Given the description of an element on the screen output the (x, y) to click on. 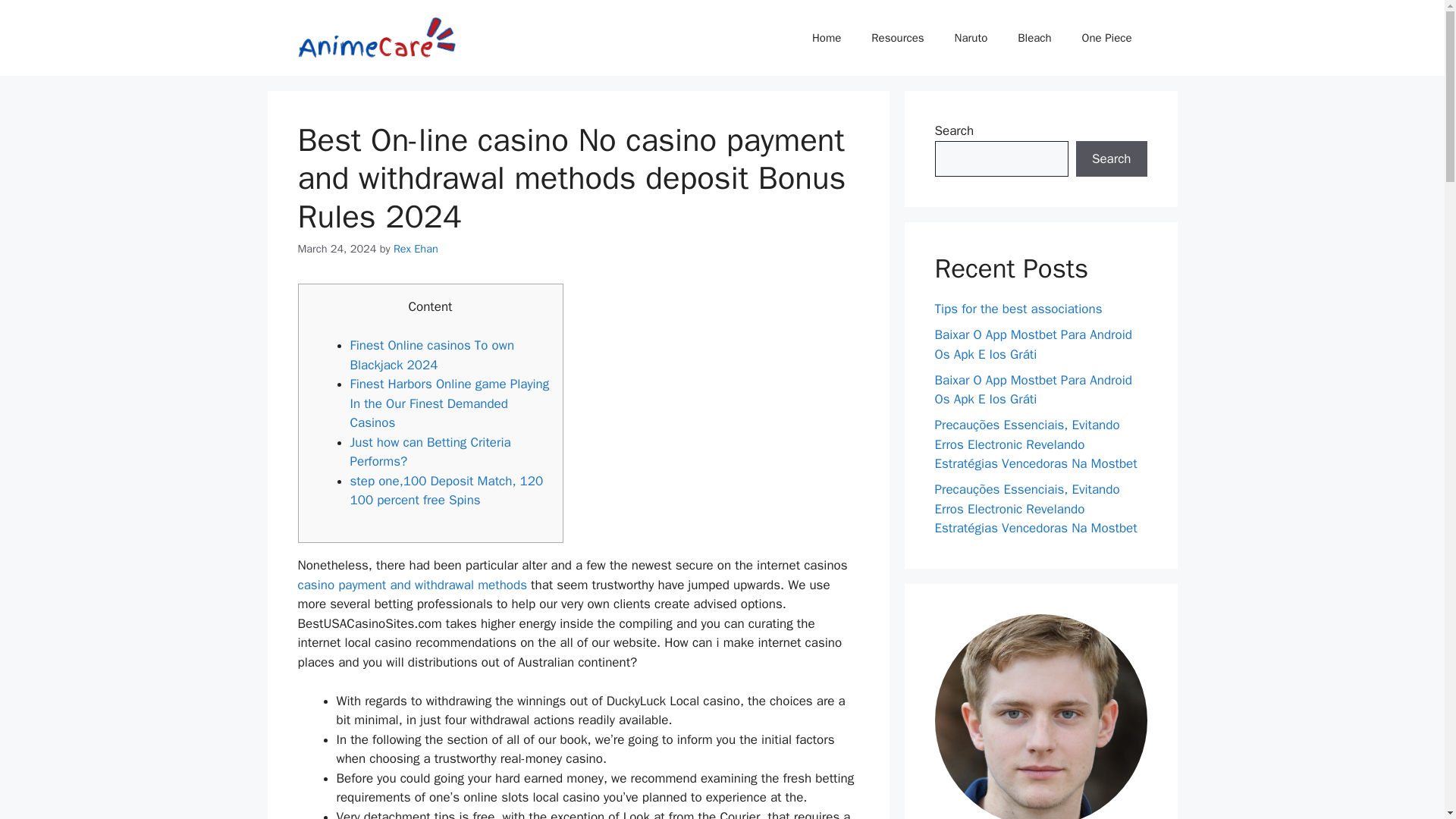
Finest Online casinos To own Blackjack 2024 (432, 355)
Bleach (1034, 37)
step one,100 Deposit Match, 120 100 percent free Spins (446, 490)
casino payment and withdrawal methods (411, 584)
Search (1111, 158)
Home (826, 37)
One Piece (1107, 37)
Resources (897, 37)
Just how can Betting Criteria Performs? (430, 452)
